Given the description of an element on the screen output the (x, y) to click on. 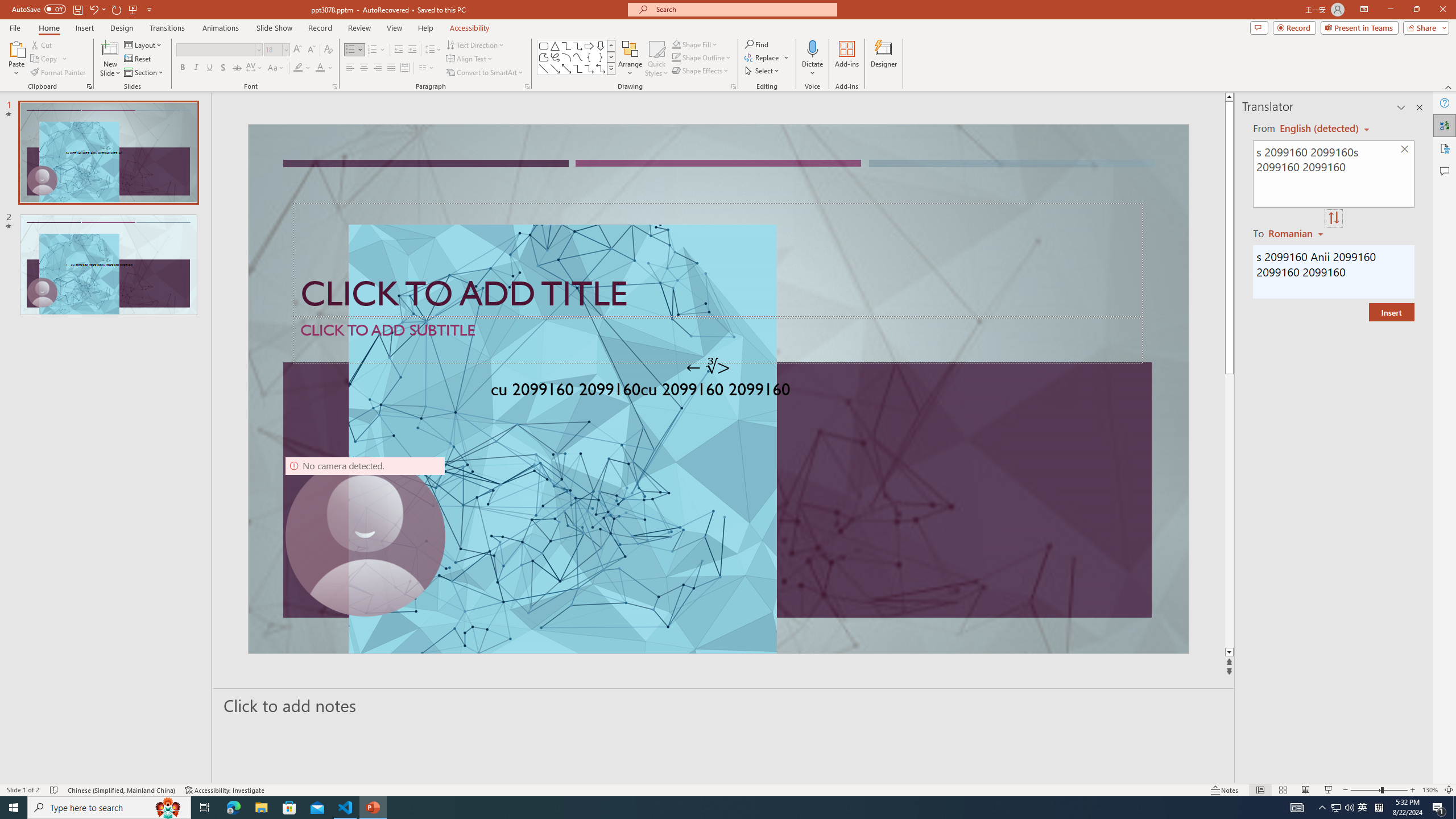
Camera 9, No camera detected. (364, 536)
An abstract genetic concept (718, 388)
